Given the description of an element on the screen output the (x, y) to click on. 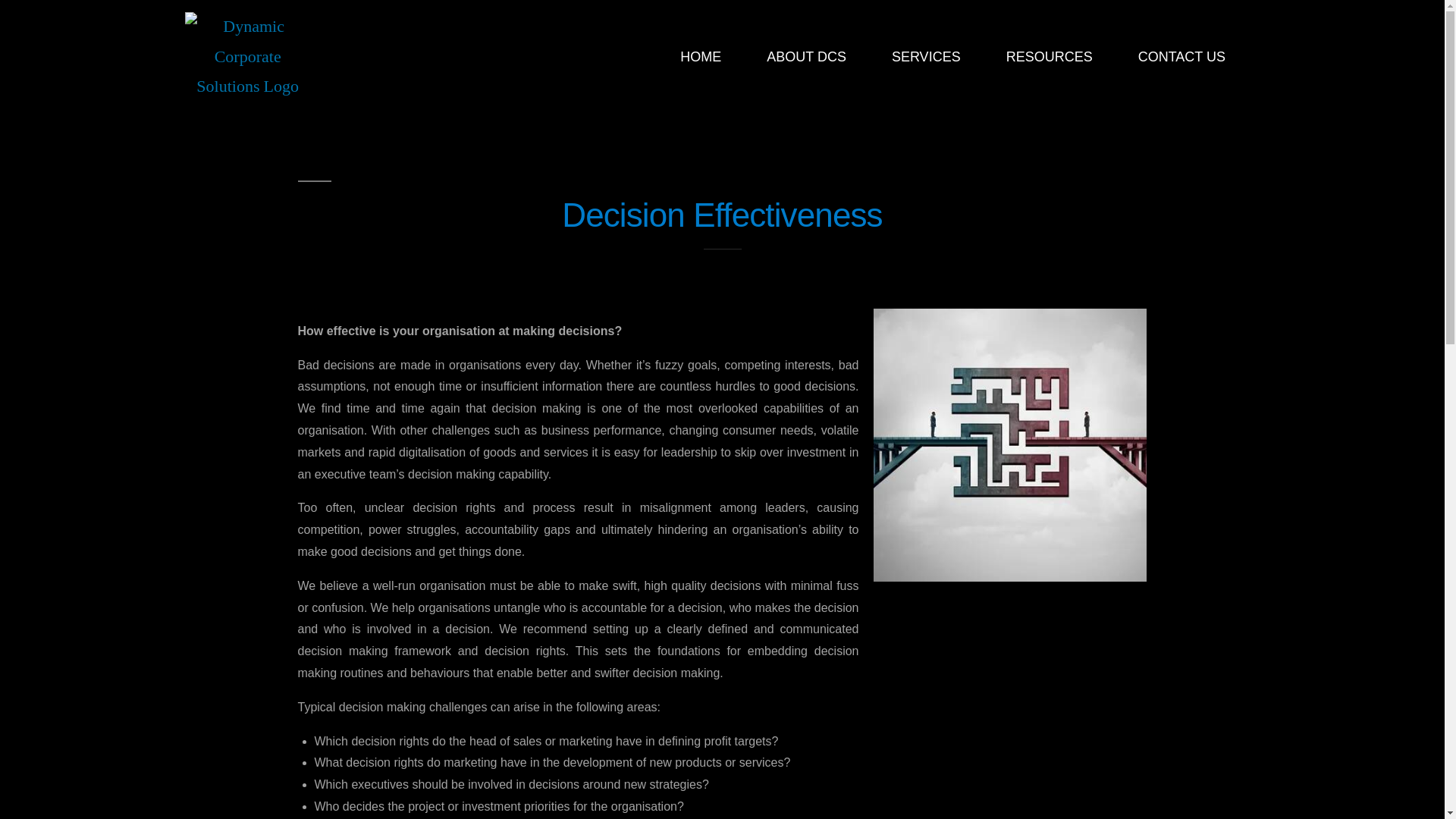
HOME (700, 56)
Dynamic Corporate Solutions Logo (247, 57)
CONTACT US (1182, 56)
SERVICES (925, 56)
ABOUT DCS (805, 56)
RESOURCES (1049, 56)
